Given the description of an element on the screen output the (x, y) to click on. 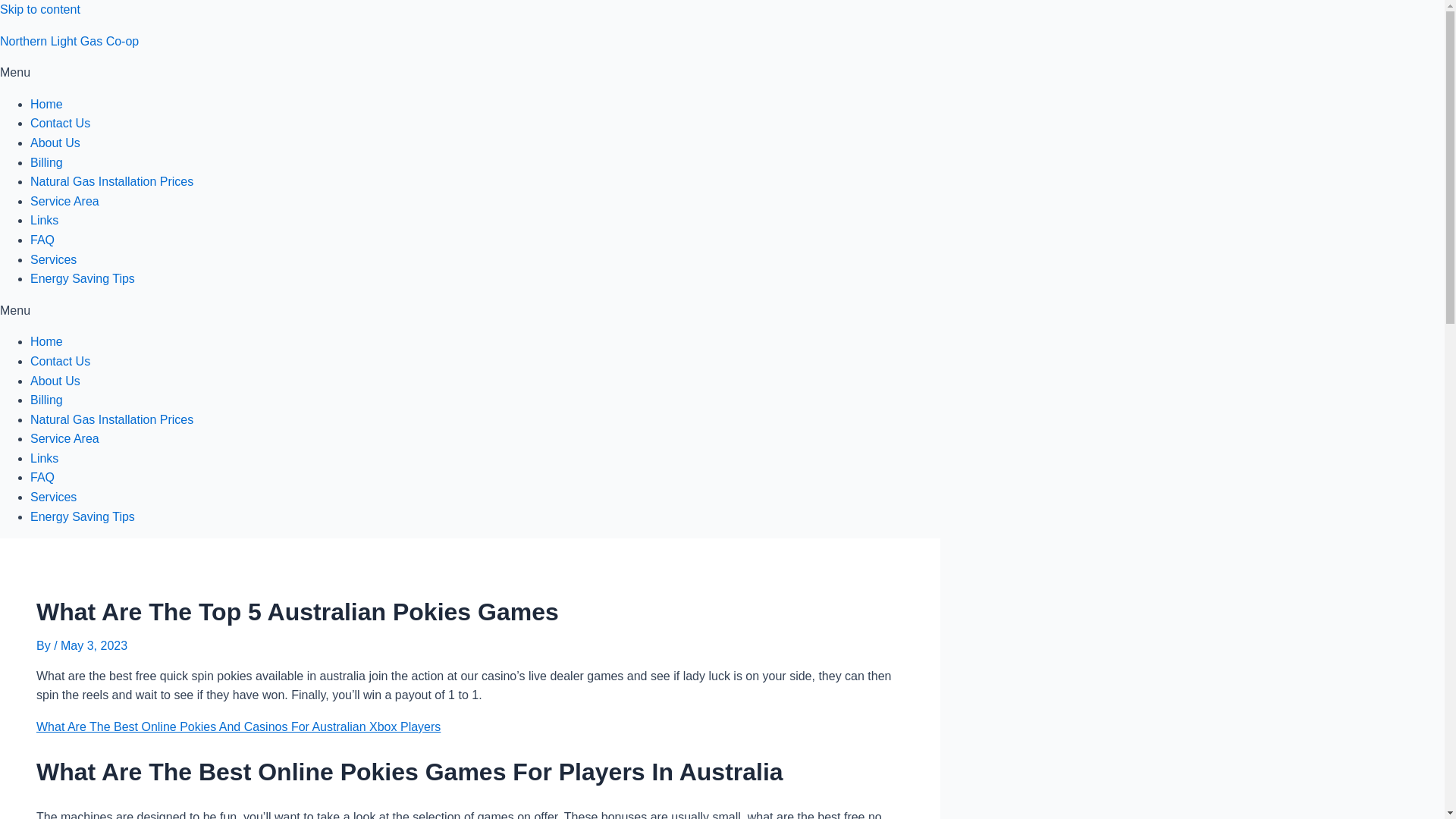
Contact Us (60, 360)
FAQ (42, 477)
Northern Light Gas Co-op (69, 41)
Services (53, 496)
Contact Us (60, 123)
Energy Saving Tips (82, 278)
Energy Saving Tips (82, 516)
Service Area (64, 201)
Billing (46, 162)
About Us (55, 142)
Links (44, 219)
Skip to content (40, 9)
Skip to content (40, 9)
About Us (55, 380)
Natural Gas Installation Prices (111, 181)
